Given the description of an element on the screen output the (x, y) to click on. 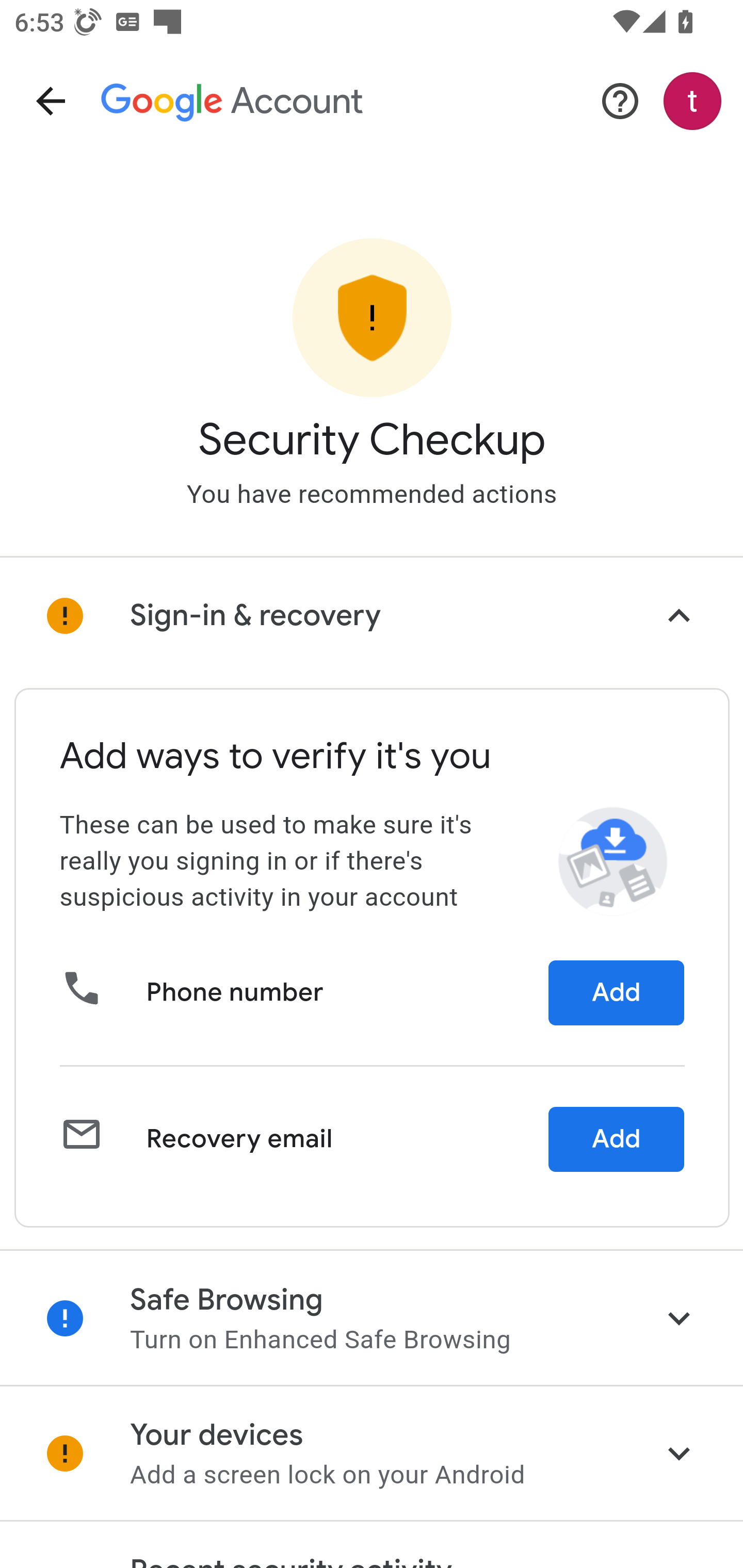
Navigate up (50, 101)
Help & feedback (619, 101)
Issues found in sign-in & recovery (371, 615)
Add your phone number (616, 993)
Add a recovery email (616, 1138)
Safe Browsing Turn on Enhanced Safe Browsing (371, 1317)
